Given the description of an element on the screen output the (x, y) to click on. 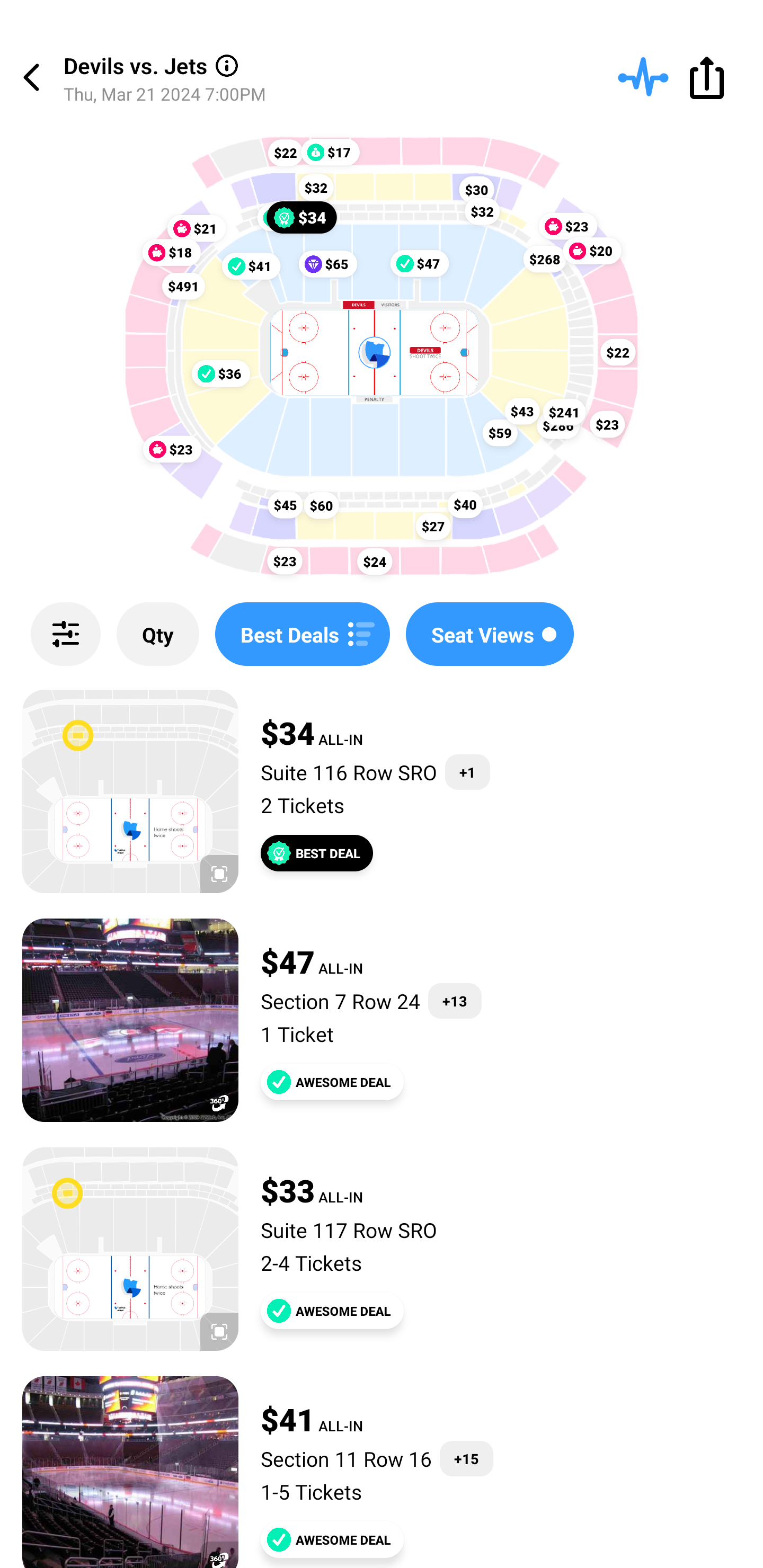
$47 (419, 263)
$65 (328, 263)
$41 (251, 265)
$43 (522, 411)
$59 (499, 432)
Qty (157, 634)
Best Deals (302, 634)
Seat Views (489, 634)
+1 (466, 772)
BEST DEAL (316, 852)
+13 (454, 1001)
AWESOME DEAL (331, 1081)
AWESOME DEAL (331, 1310)
+15 (466, 1458)
AWESOME DEAL (331, 1539)
